Given the description of an element on the screen output the (x, y) to click on. 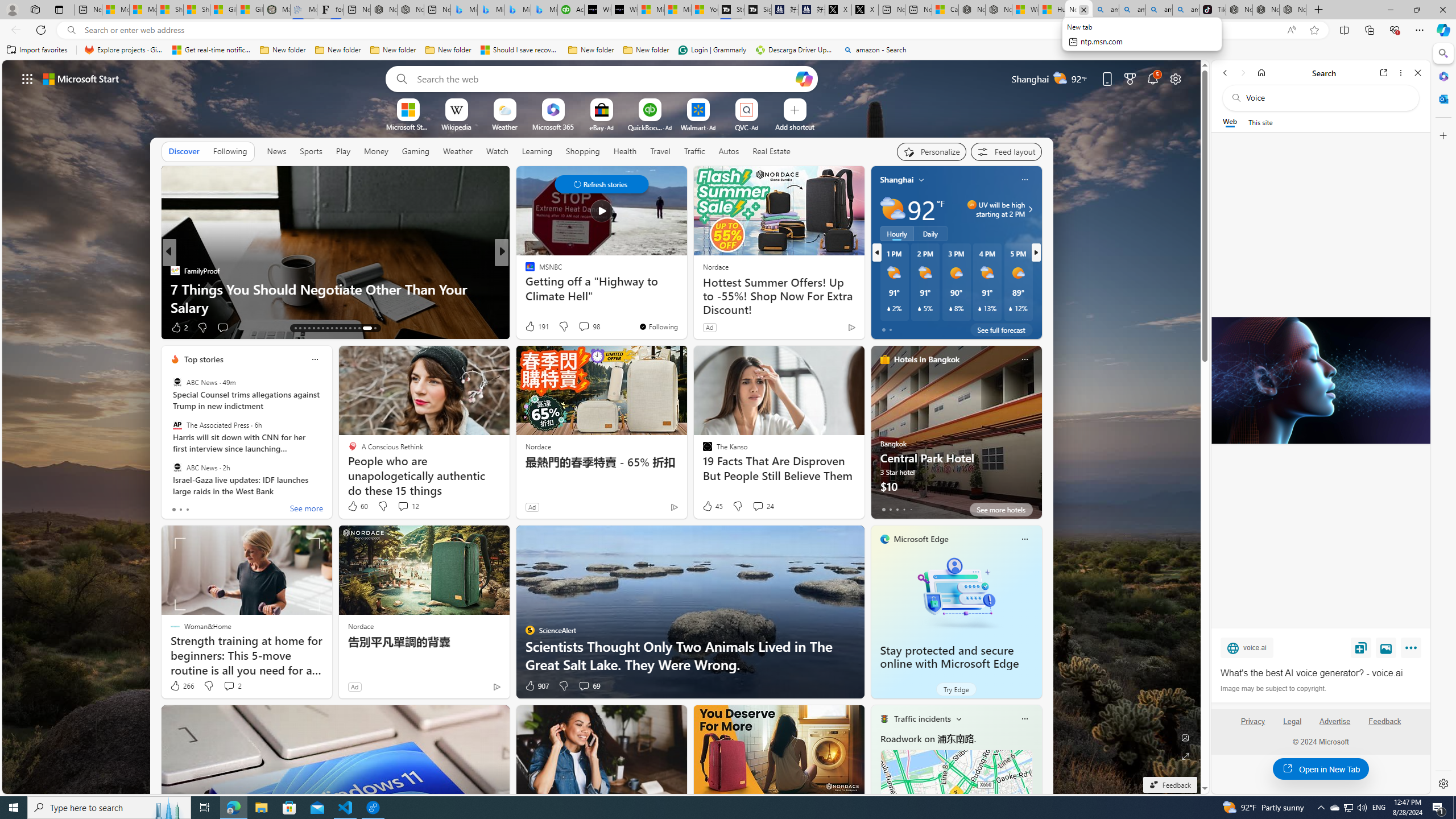
Should I save recovered Word documents? - Microsoft Support (519, 49)
Change scenarios (957, 718)
Advertise (1334, 725)
amazon - Search Images (1185, 9)
Play (342, 151)
View comments 24 Comment (757, 505)
See full forecast (1000, 329)
Class: control (600, 184)
Hotels in Bangkok (926, 359)
Image may be subject to copyright. (1273, 688)
Shopping (583, 151)
Page settings (1175, 78)
